Given the description of an element on the screen output the (x, y) to click on. 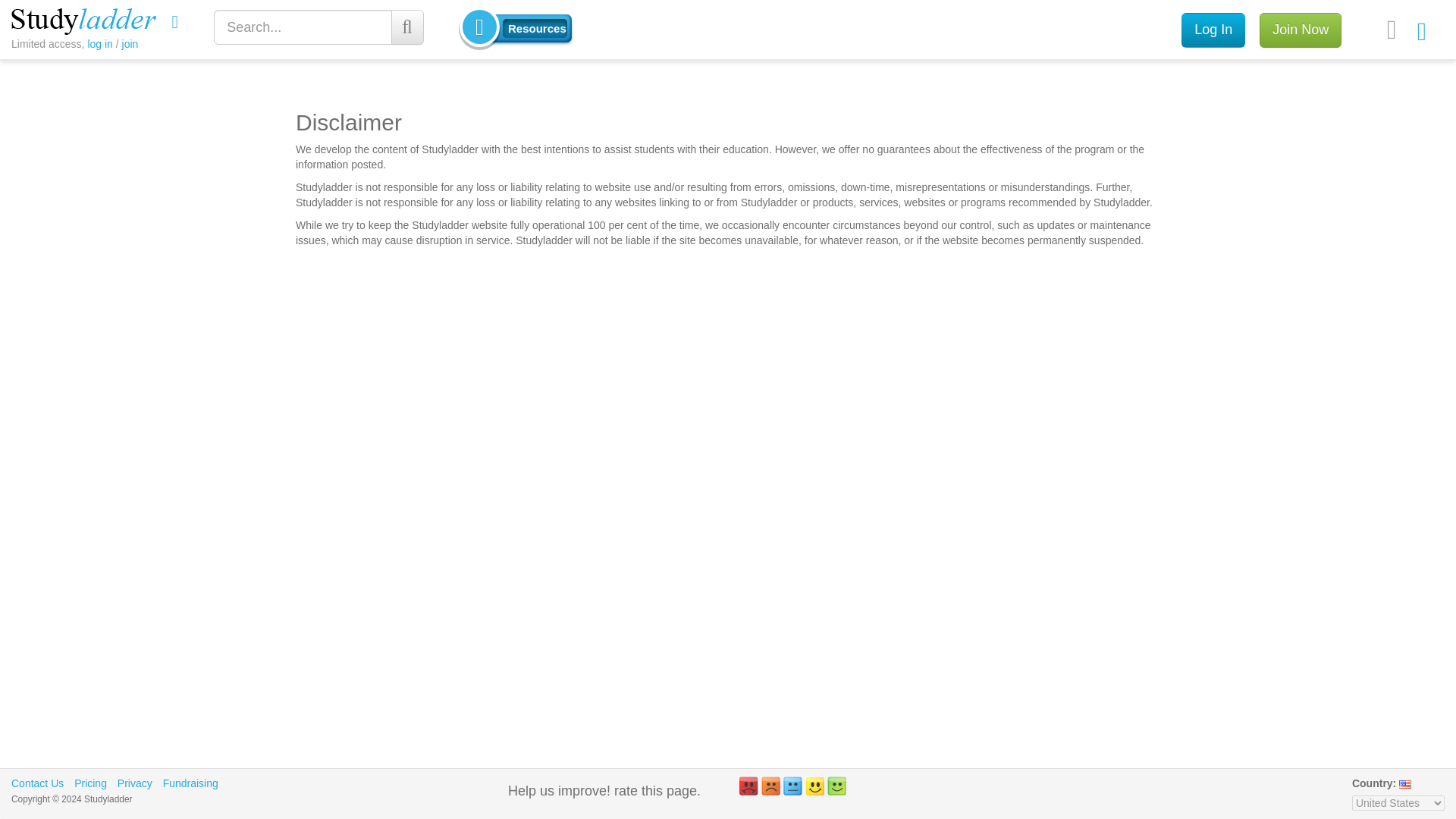
Contact Us (37, 783)
Average (792, 785)
Join Now (1299, 30)
Join Now (1299, 30)
Studyladder (83, 21)
Privacy (134, 783)
Fundraising (190, 783)
Poor (770, 785)
Log In (1212, 30)
Pricing (90, 783)
